Given the description of an element on the screen output the (x, y) to click on. 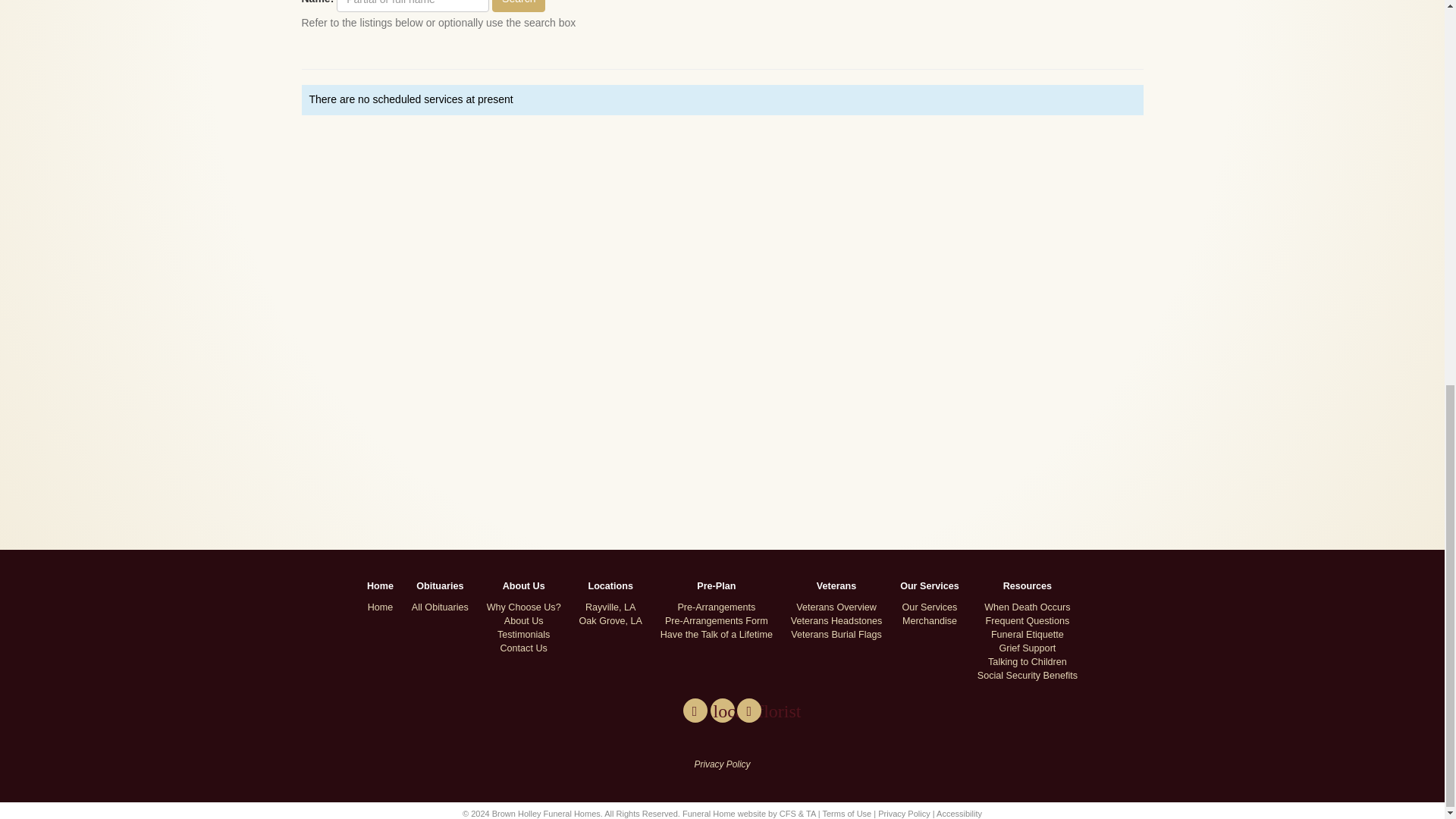
Send Flowers (721, 710)
Search (518, 6)
Facebook (694, 710)
Directions (748, 710)
